Given the description of an element on the screen output the (x, y) to click on. 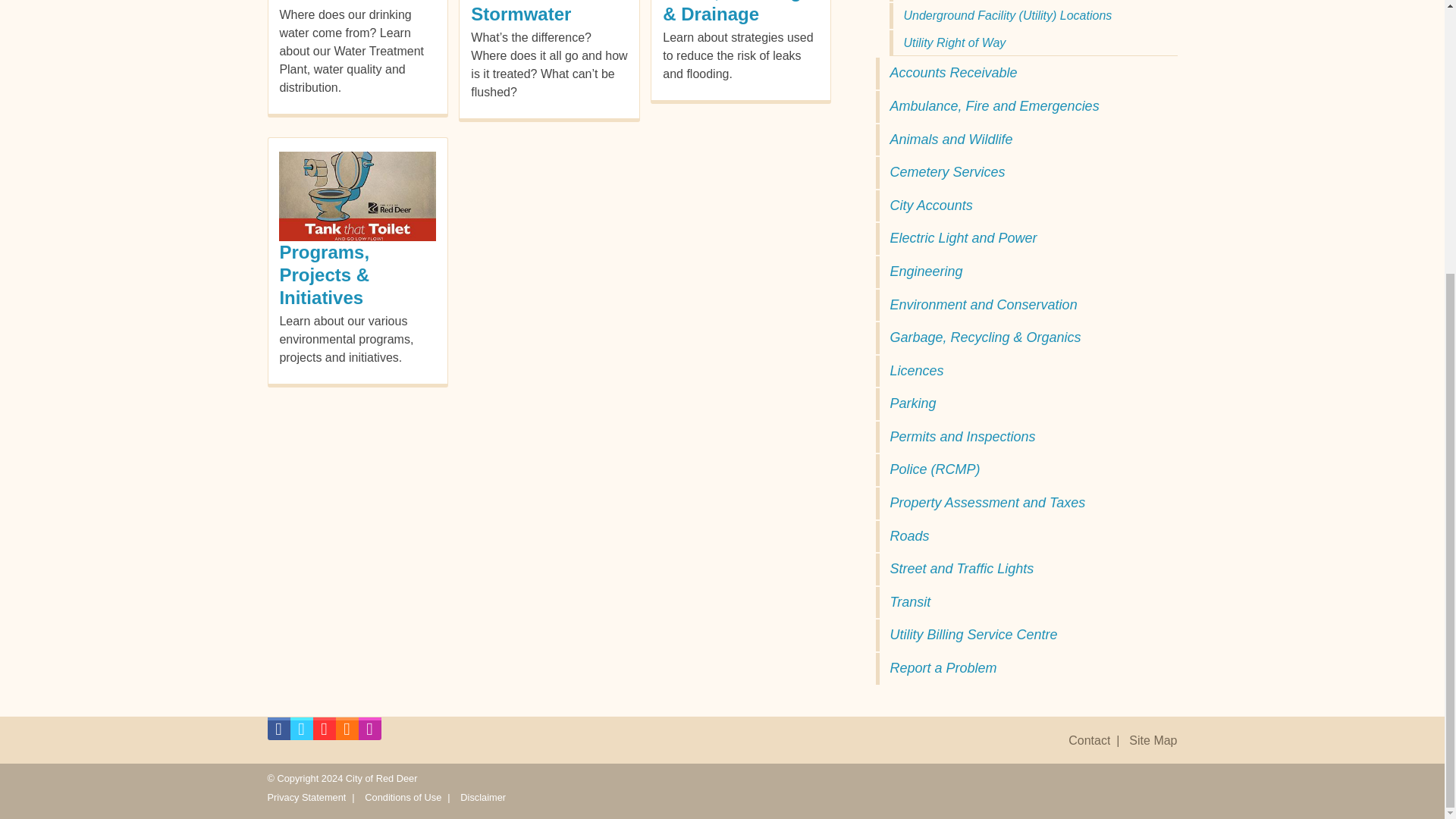
Animals and Wildlife (1025, 140)
Cemetery Services (1025, 173)
Report a Problem (1025, 668)
Licences (1025, 371)
Engineering (1025, 272)
Permits and Inspections (1025, 437)
Open City of Red Deer Facebook Page (277, 732)
Utility Billing Service Centre (1025, 635)
Water (304, 0)
Open City of Red Deer Twitter Feed (301, 732)
